Given the description of an element on the screen output the (x, y) to click on. 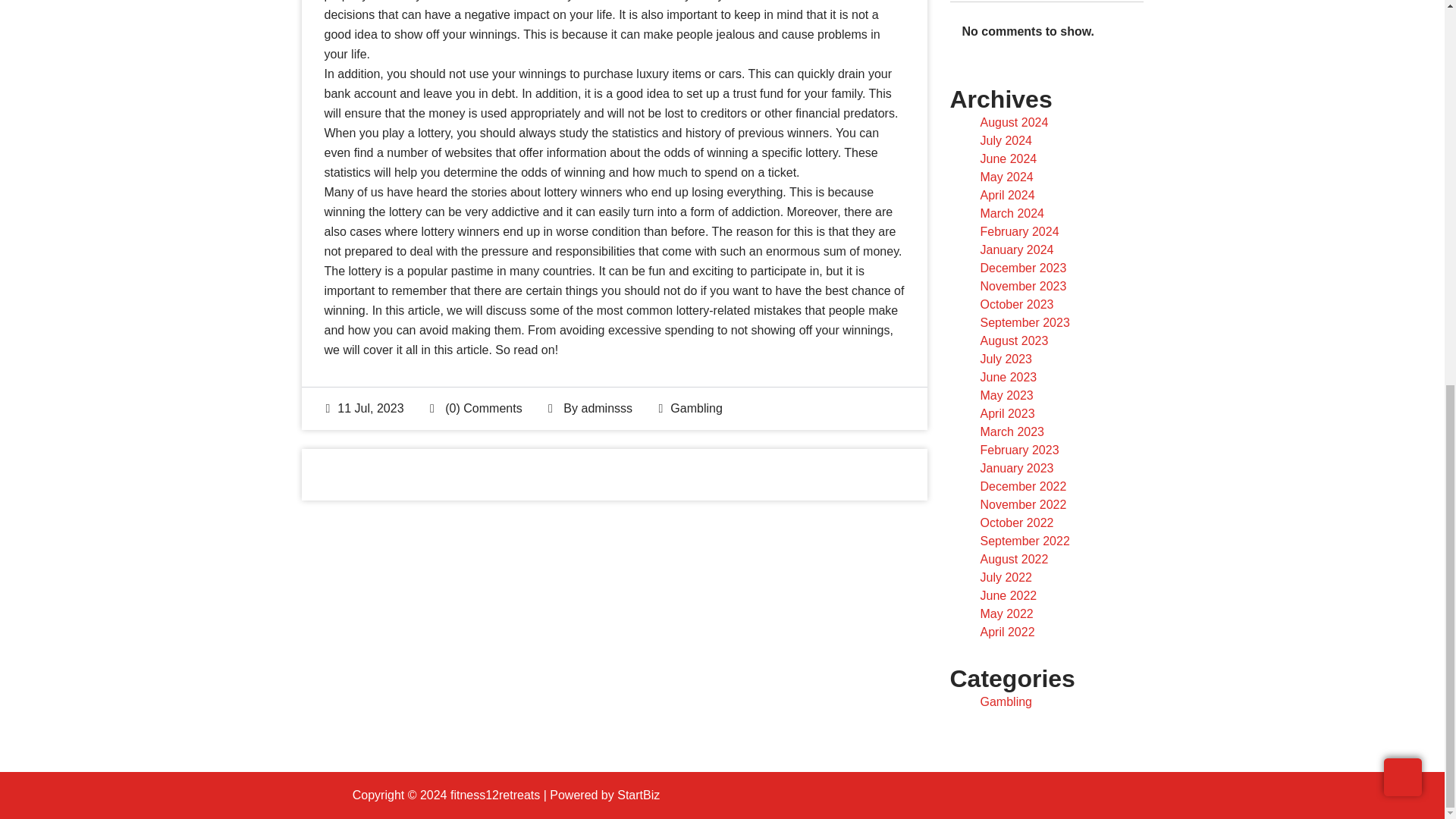
June 2024 (1007, 158)
February 2023 (1018, 449)
September 2023 (1023, 322)
November 2023 (1022, 286)
July 2023 (1005, 358)
April 2024 (1006, 195)
August 2023 (1013, 340)
July 2024 (1005, 140)
December 2023 (1022, 267)
May 2024 (1005, 176)
